Given the description of an element on the screen output the (x, y) to click on. 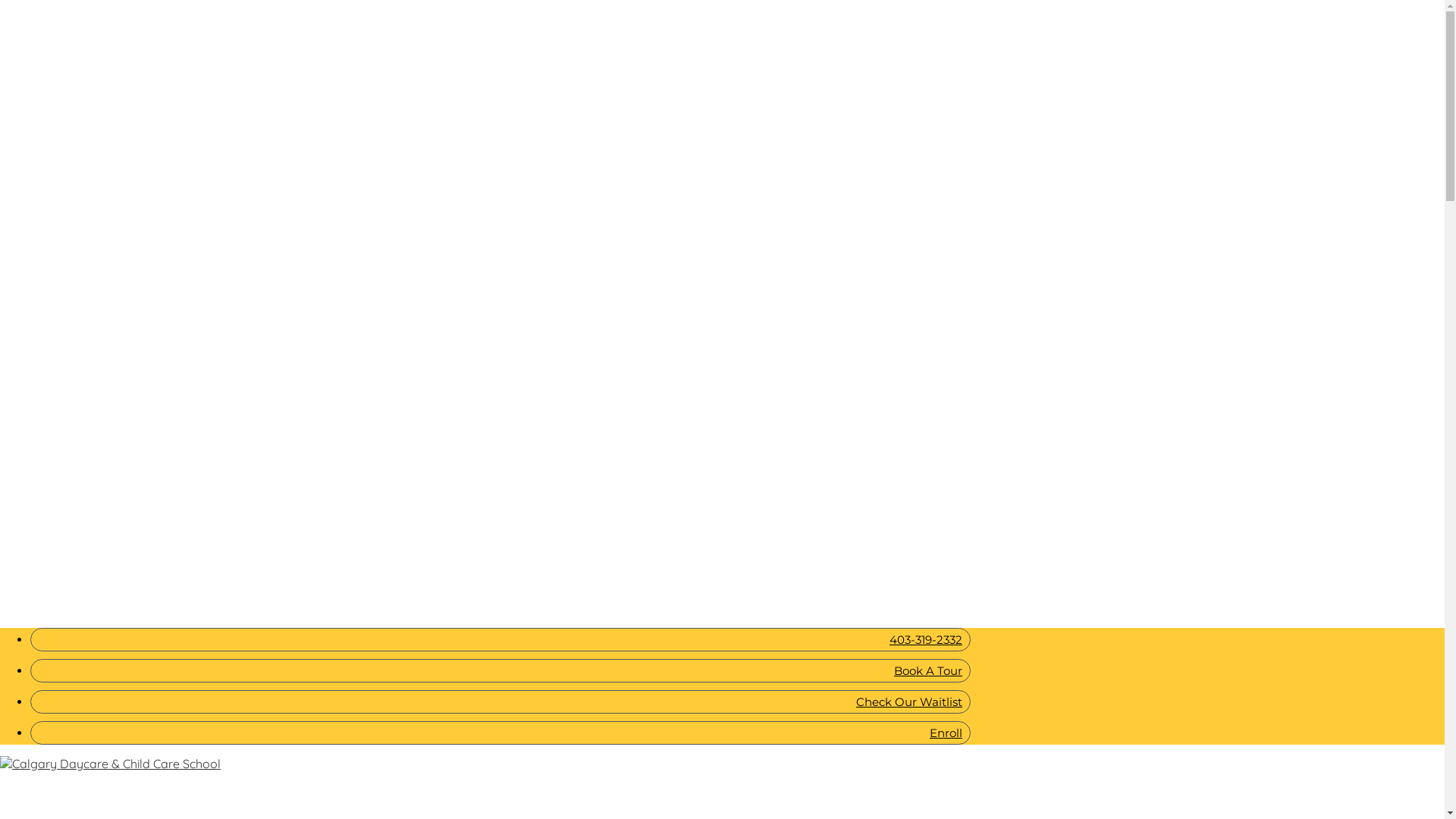
Book A Tour Element type: text (500, 670)
Enroll Element type: text (500, 732)
403-319-2332 Element type: text (500, 639)
Check Our Waitlist Element type: text (500, 701)
